Given the description of an element on the screen output the (x, y) to click on. 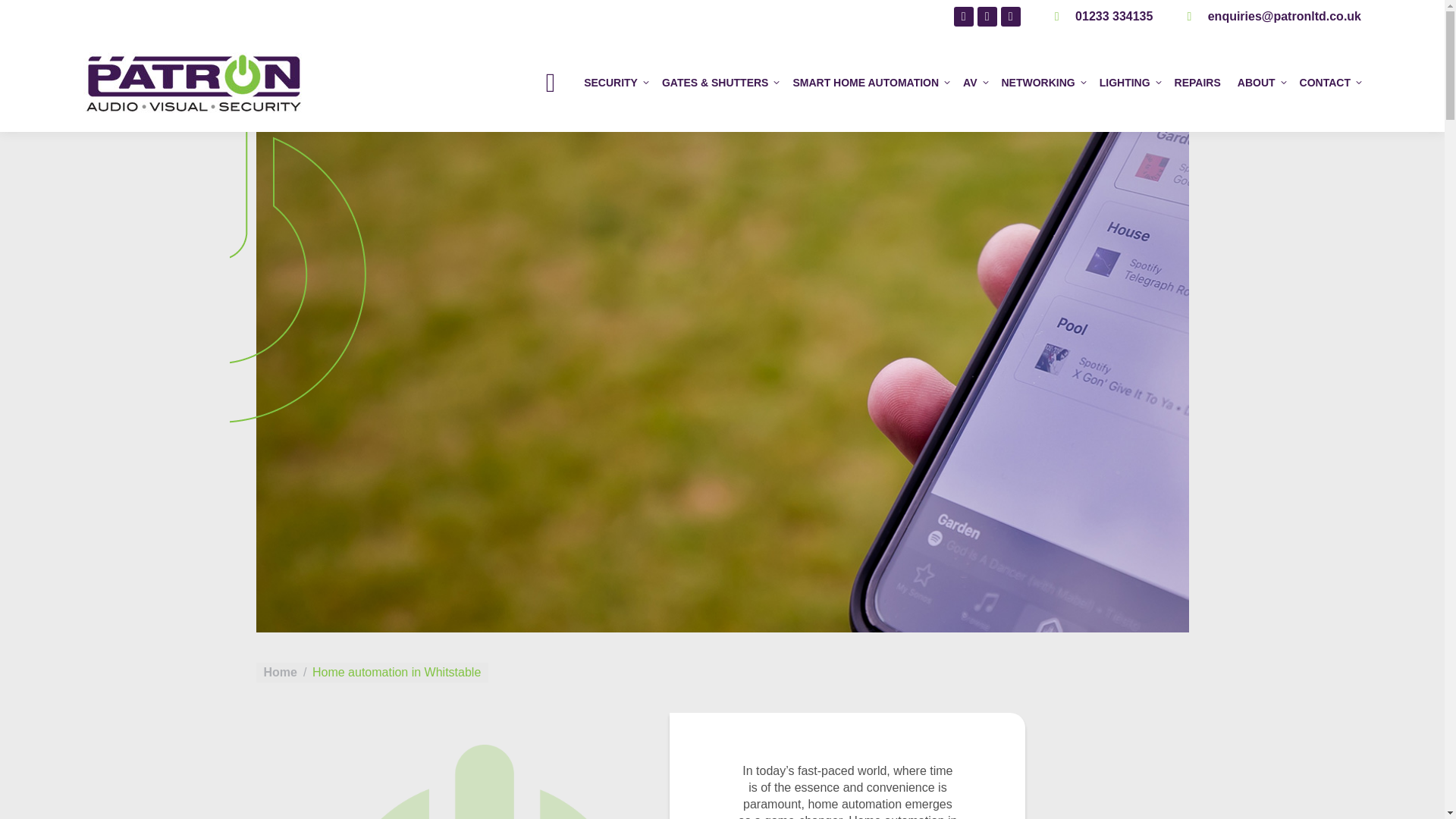
Facebook page opens in new window (1010, 16)
Linkedin page opens in new window (963, 16)
Instagram page opens in new window (986, 16)
SMART HOME AUTOMATION (869, 81)
01233 334135 (1114, 15)
Contact Us - Patron Security Ltd (1284, 15)
SECURITY (613, 81)
Linkedin page opens in new window (963, 16)
Instagram page opens in new window (986, 16)
LIGHTING (1128, 81)
